Given the description of an element on the screen output the (x, y) to click on. 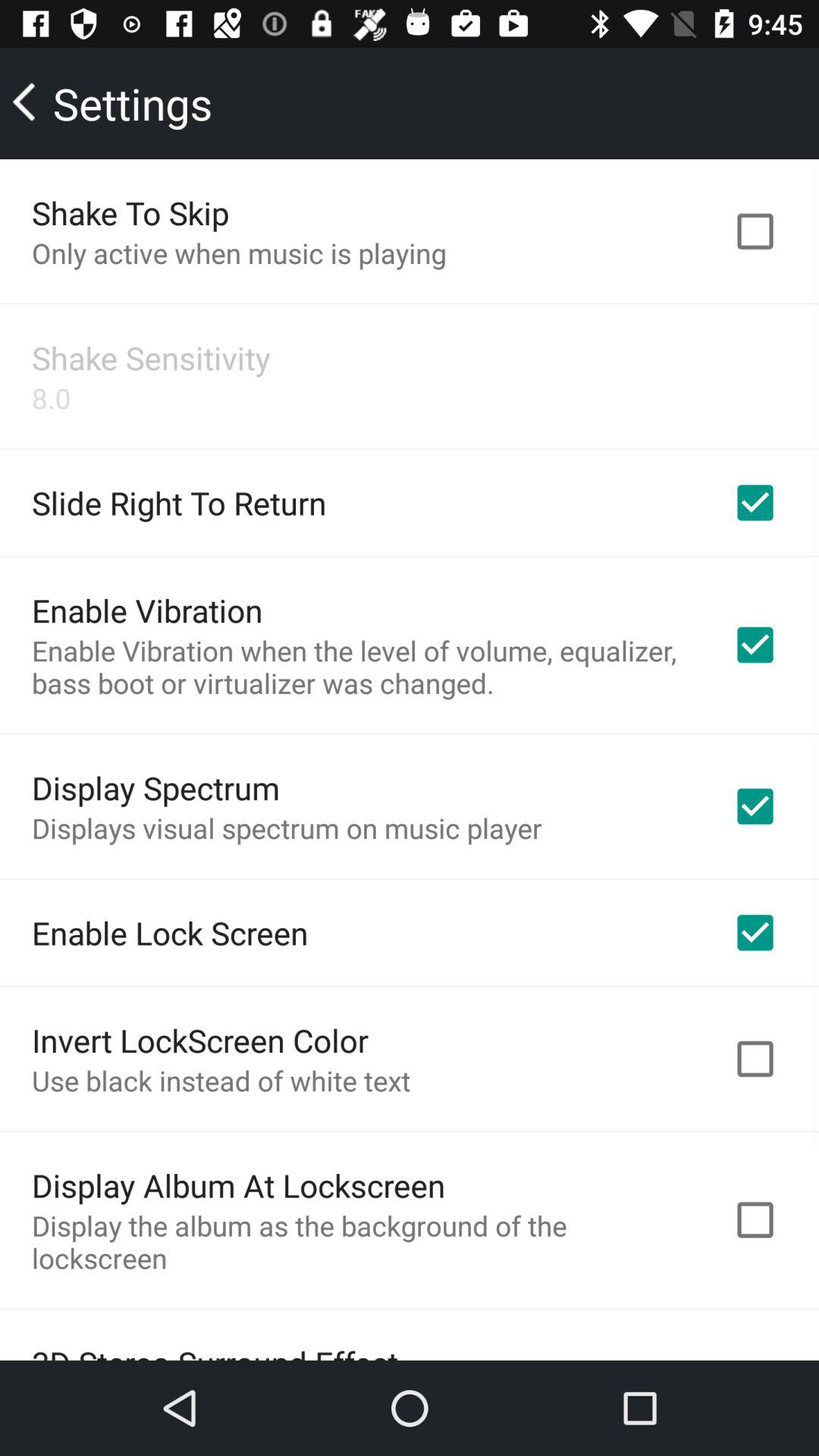
swipe until settings (114, 103)
